Given the description of an element on the screen output the (x, y) to click on. 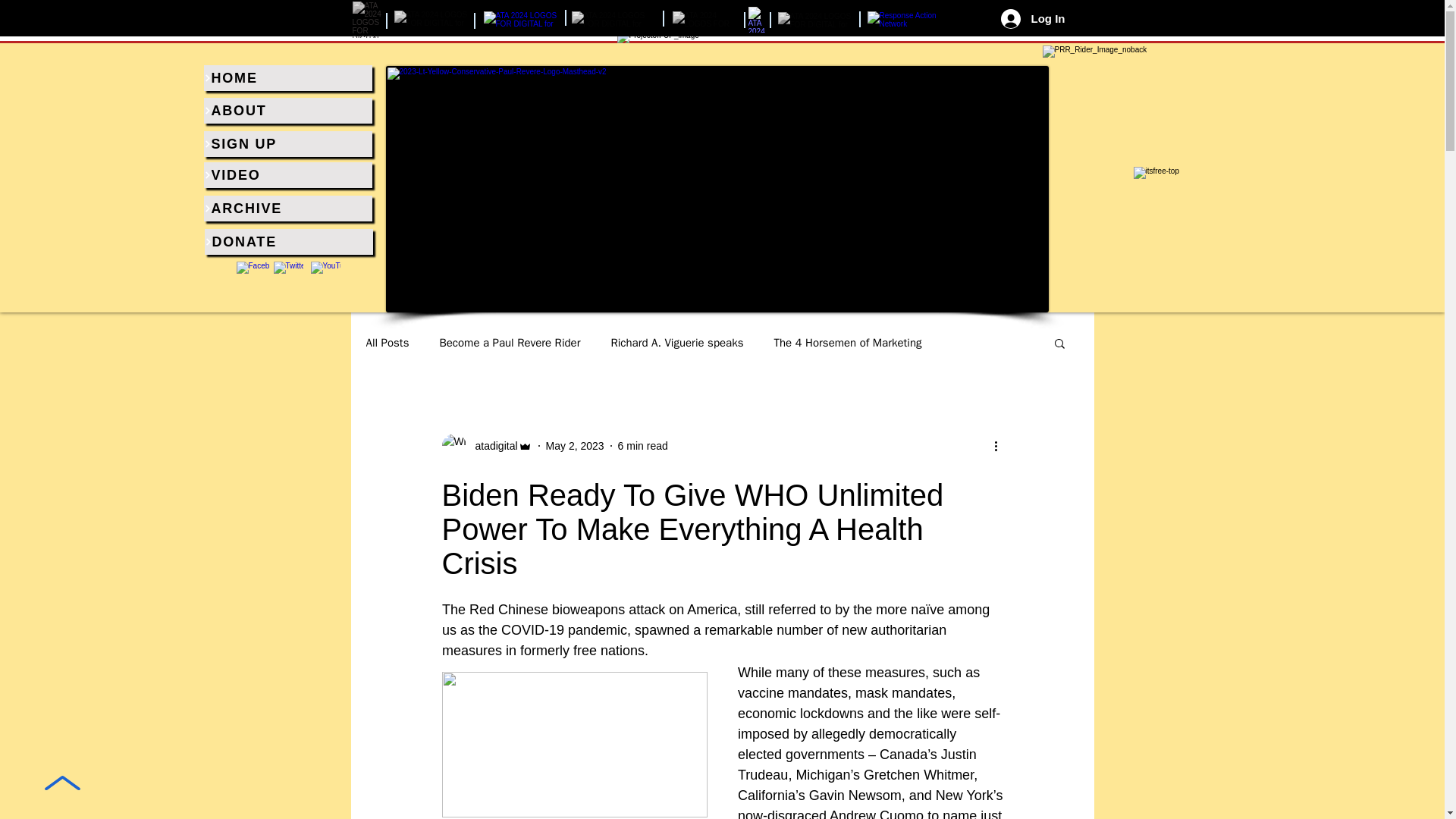
Become a Paul Revere Rider (509, 341)
Log In (1032, 18)
May 2, 2023 (575, 445)
atadigital (486, 445)
HOME (287, 77)
The 4 Horsemen of Marketing (847, 341)
6 min read (642, 445)
All Posts (387, 341)
ARCHIVE (287, 208)
atadigital (490, 446)
